Given the description of an element on the screen output the (x, y) to click on. 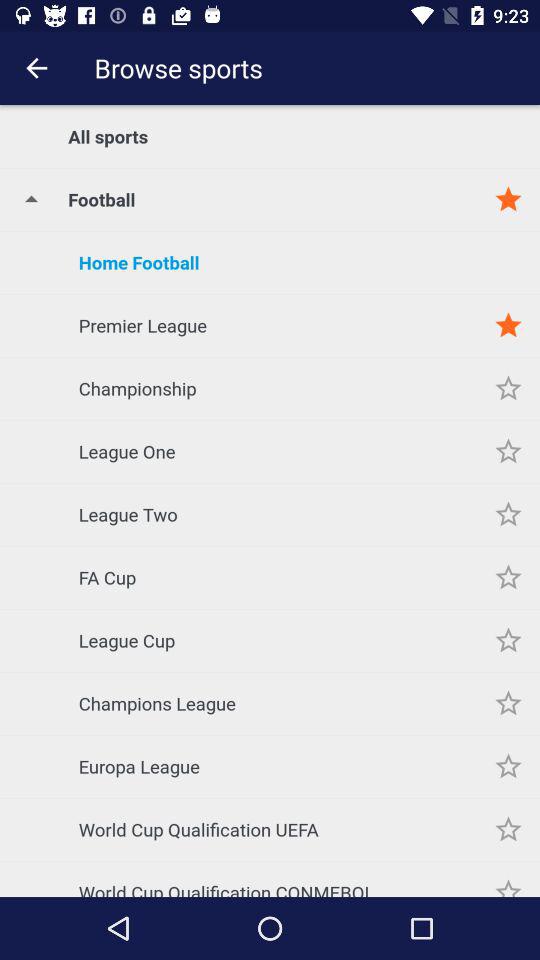
champions league (508, 703)
